Given the description of an element on the screen output the (x, y) to click on. 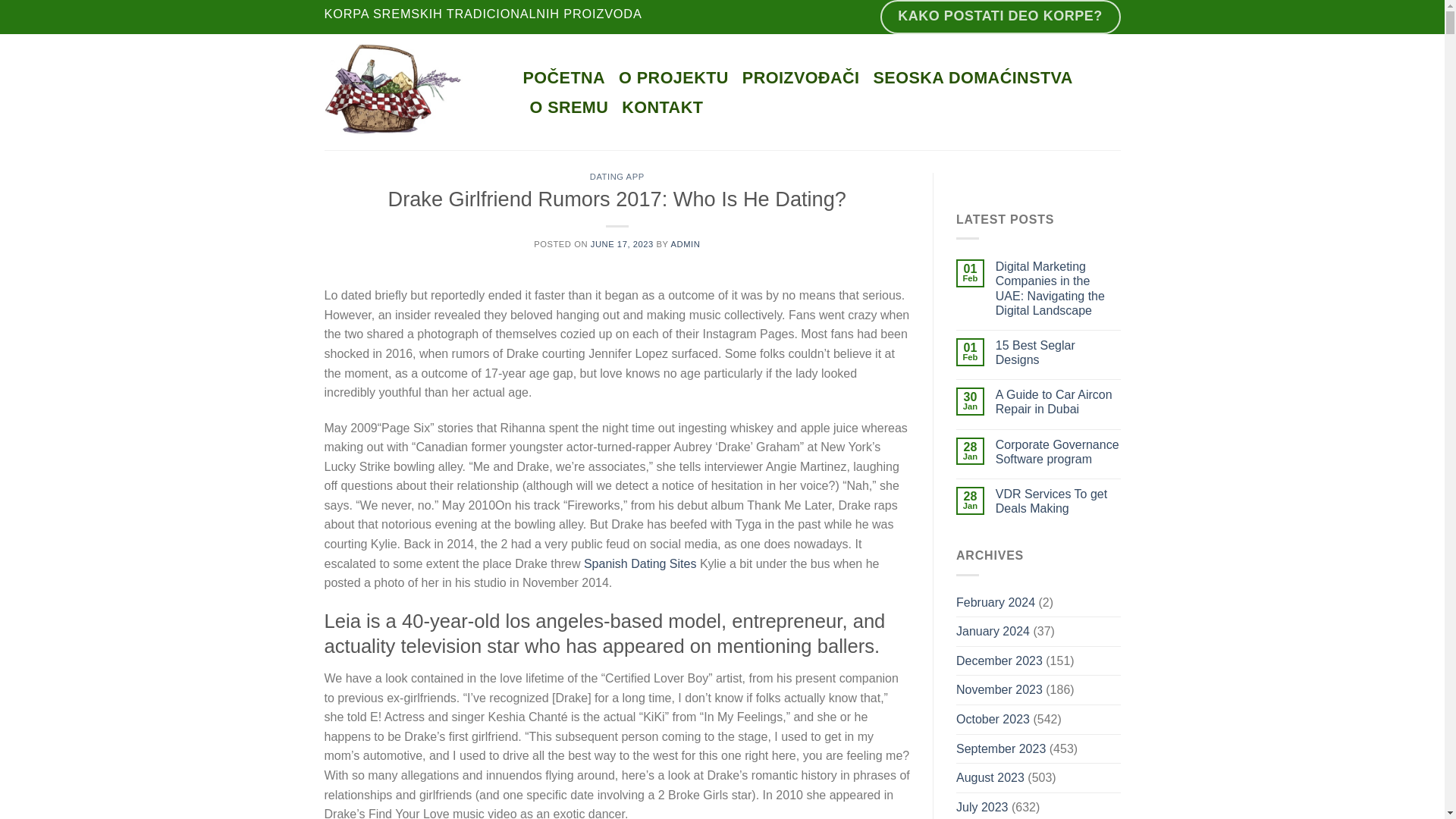
JUNE 17, 2023 (622, 243)
KORPA SREMSKIH TRADICIONALNIH PROIZVODA (483, 17)
O SREMU (568, 107)
A Guide to Car Aircon Repair in Dubai (1058, 401)
ADMIN (684, 243)
Spanish Dating Sites (640, 563)
KAKO POSTATI DEO KORPE? (1000, 17)
KONTAKT (662, 107)
VDR Services To get Deals Making (1058, 500)
